Given the description of an element on the screen output the (x, y) to click on. 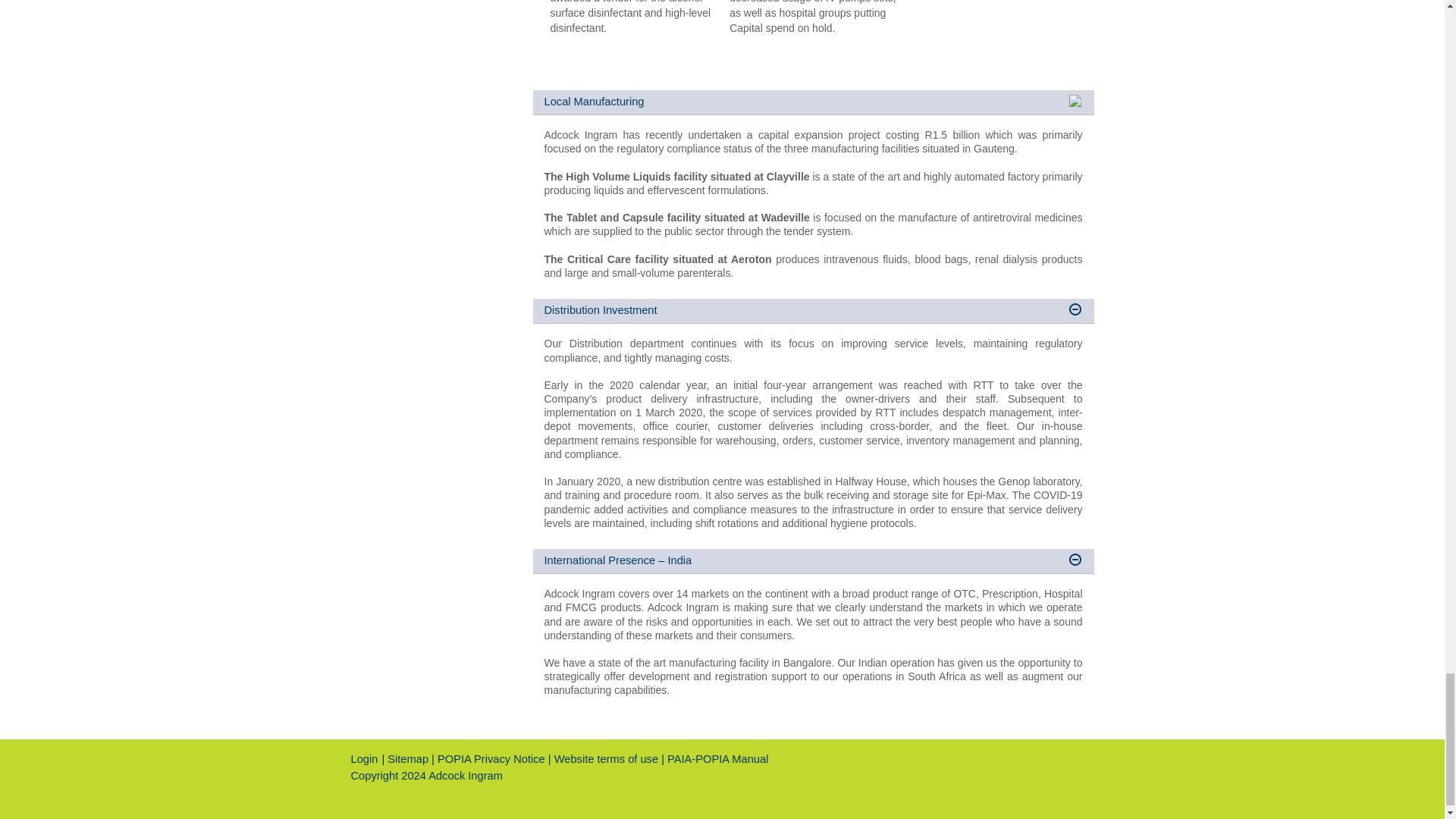
Website terms of use (607, 758)
Local Manufacturing (812, 102)
PAIA-POPIA Manual (717, 758)
Login (363, 758)
Distribution Investment (812, 310)
Sitemap (407, 758)
POPIA Privacy Notice (491, 758)
